Given the description of an element on the screen output the (x, y) to click on. 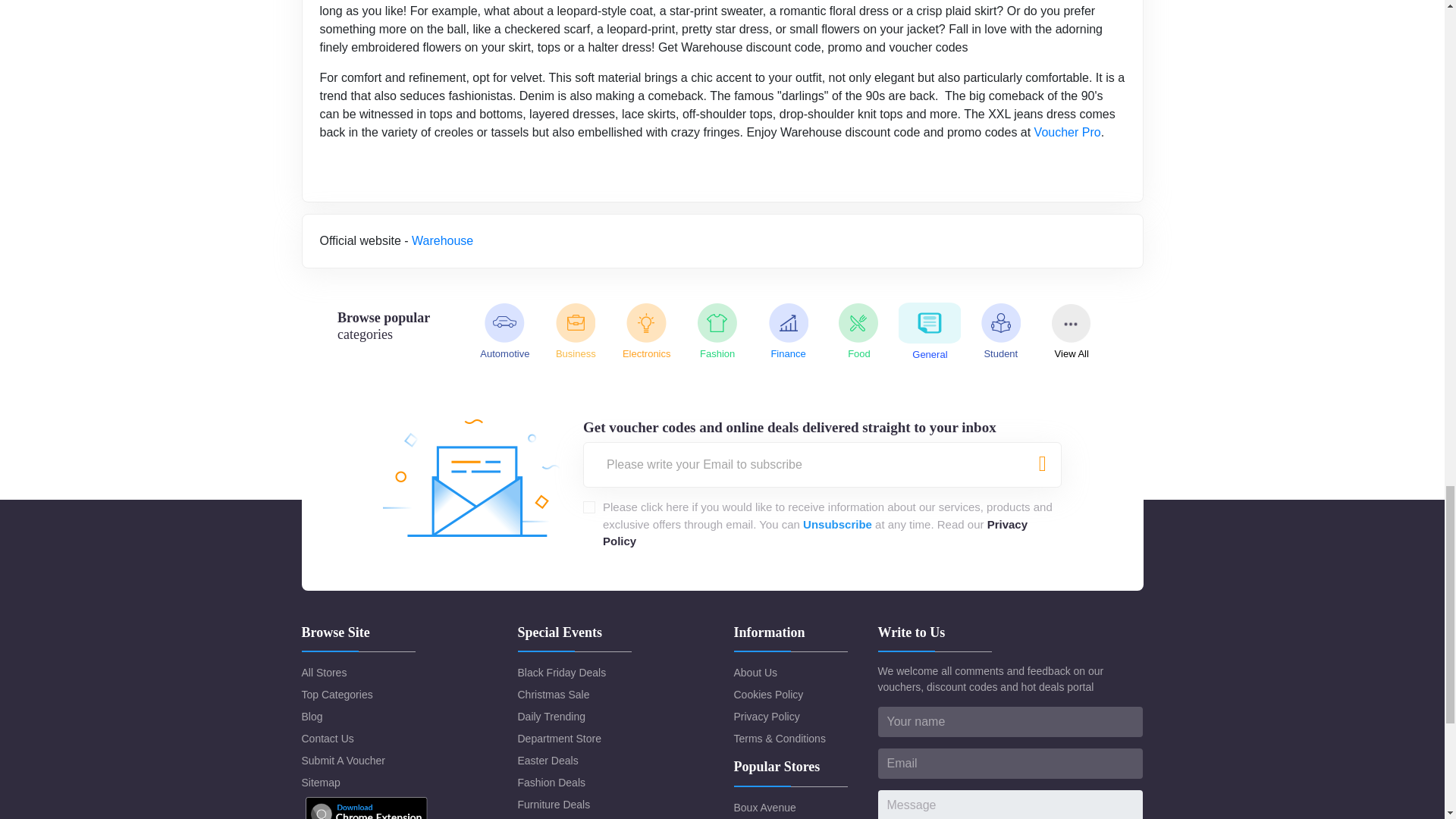
VoucherPro Extension (365, 807)
